Given the description of an element on the screen output the (x, y) to click on. 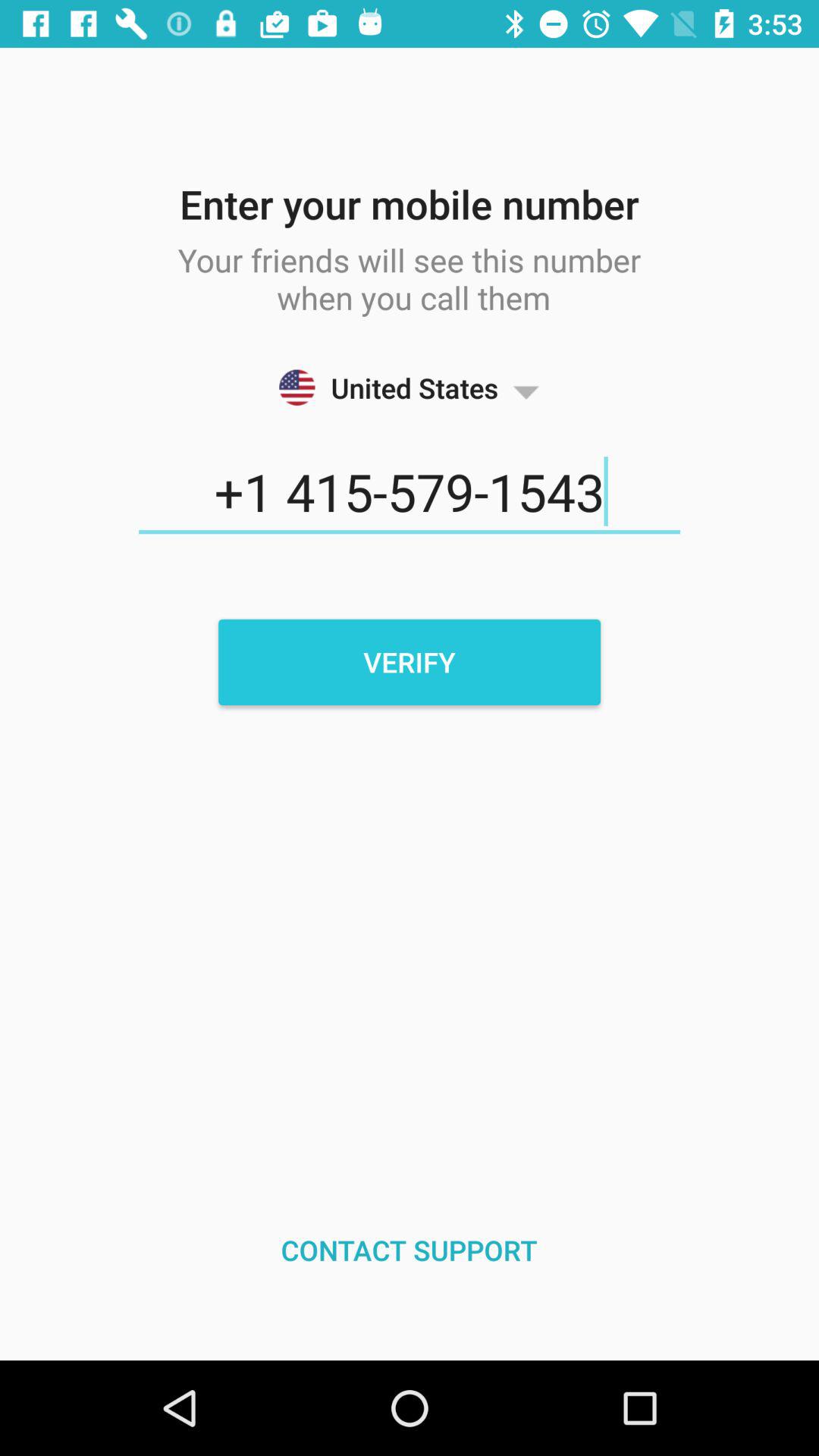
click the icon above contact support icon (409, 662)
